Given the description of an element on the screen output the (x, y) to click on. 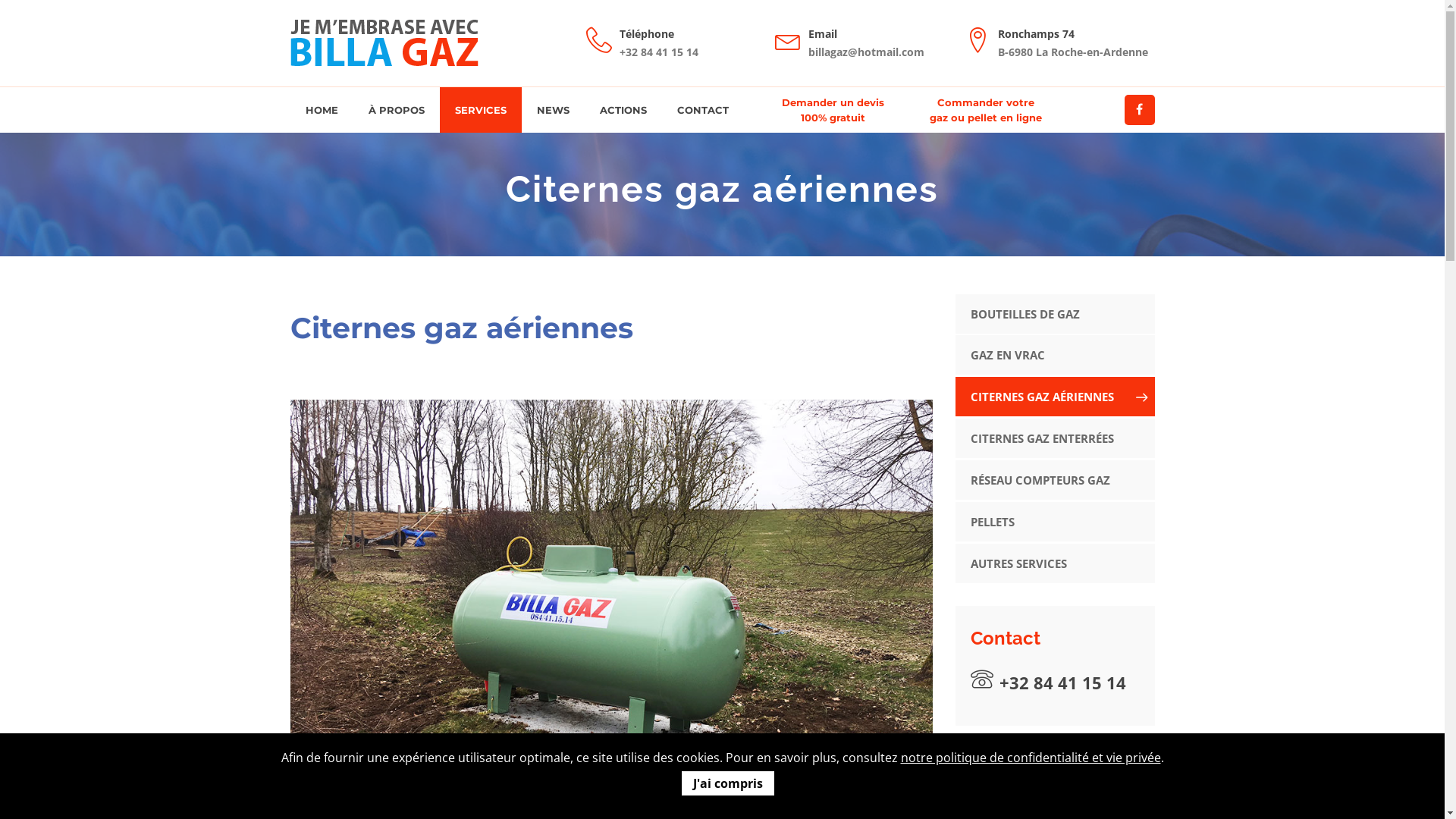
NEWS Element type: text (552, 109)
J'ai compris Element type: text (727, 783)
PELLETS Element type: text (1054, 521)
AUTRES SERVICES Element type: text (1054, 563)
CONTACT Element type: text (702, 109)
BOUTEILLES DE GAZ Element type: text (1054, 313)
GAZ EN VRAC Element type: text (1054, 354)
SERVICES Element type: text (480, 109)
Demander un devis
100% gratuit Element type: text (832, 109)
Commander votre
gaz ou pellet en ligne Element type: text (985, 109)
+32 84 41 15 14 Element type: text (1054, 681)
HOME Element type: text (320, 109)
ACTIONS Element type: text (622, 109)
